Given the description of an element on the screen output the (x, y) to click on. 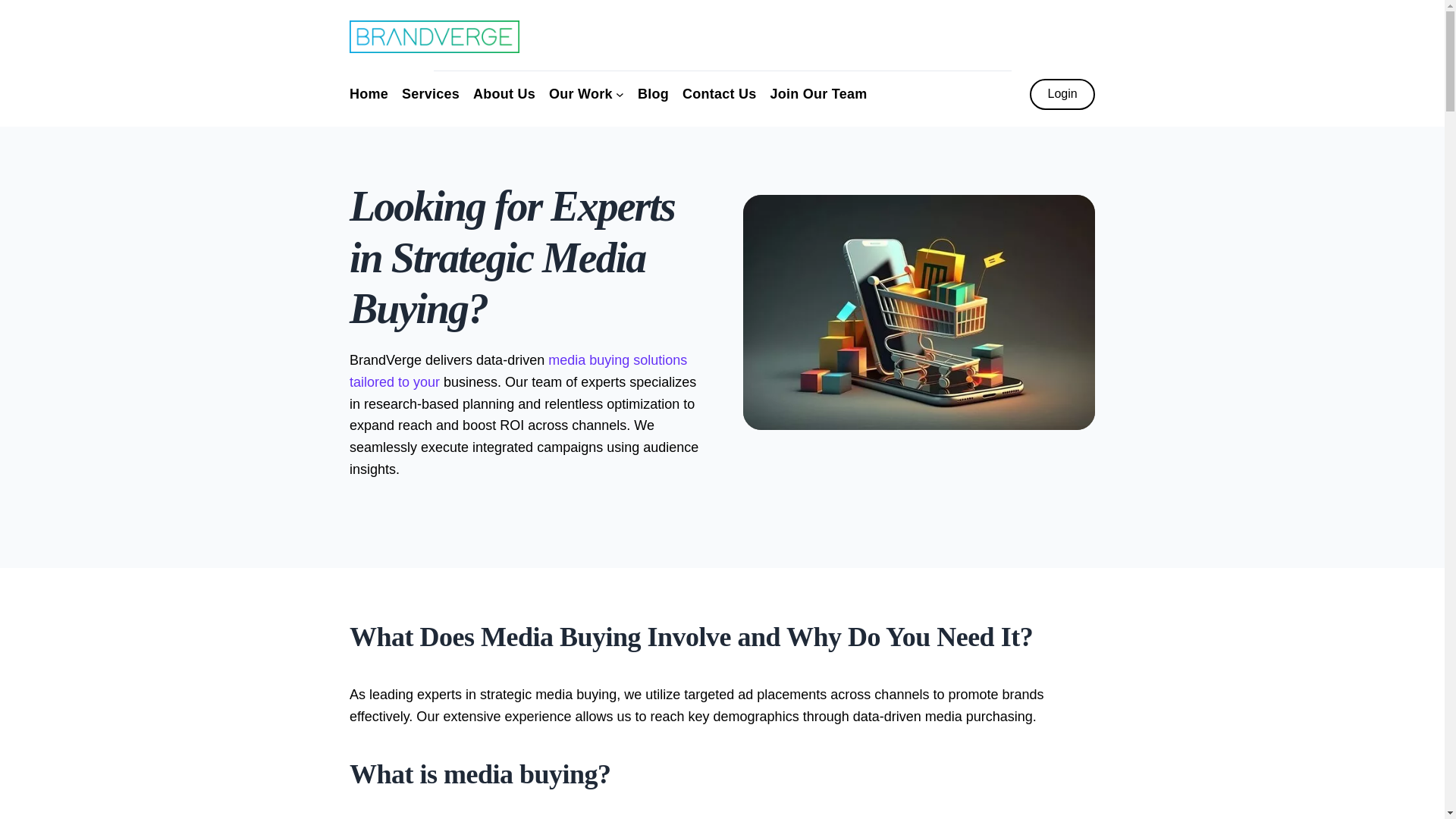
Our Work (580, 94)
About Us (504, 94)
Services (430, 94)
Contact Us (719, 94)
Join Our Team (818, 94)
Login (1061, 93)
Home (368, 94)
Blog (652, 94)
media buying solutions tailored to your (518, 370)
